Given the description of an element on the screen output the (x, y) to click on. 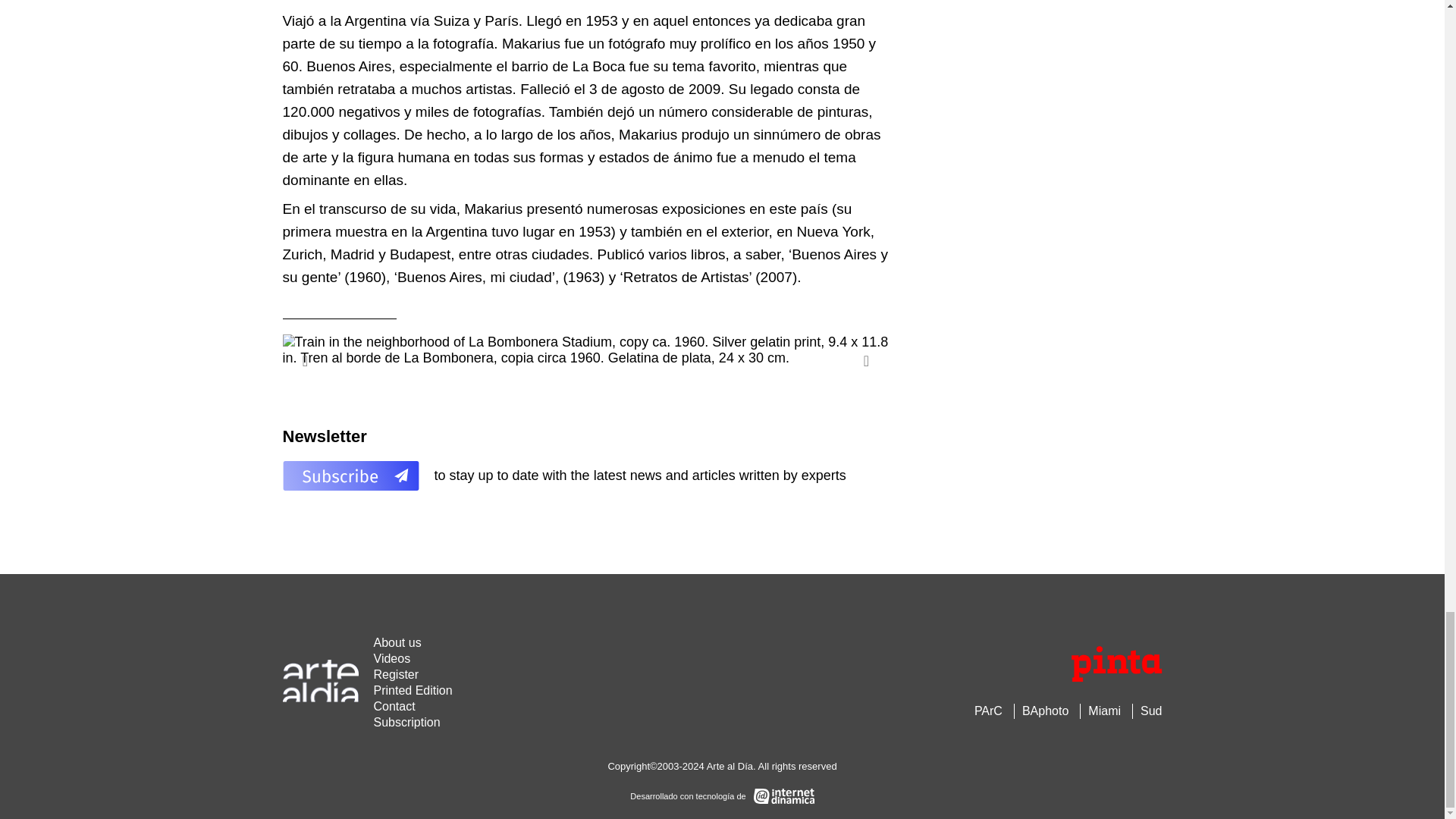
About us (396, 642)
Register (395, 674)
Miami (1104, 710)
Videos (391, 658)
Subscription (405, 721)
BAphoto (1045, 710)
Sud (1150, 710)
PArC (988, 710)
Printed Edition (411, 689)
